Given the description of an element on the screen output the (x, y) to click on. 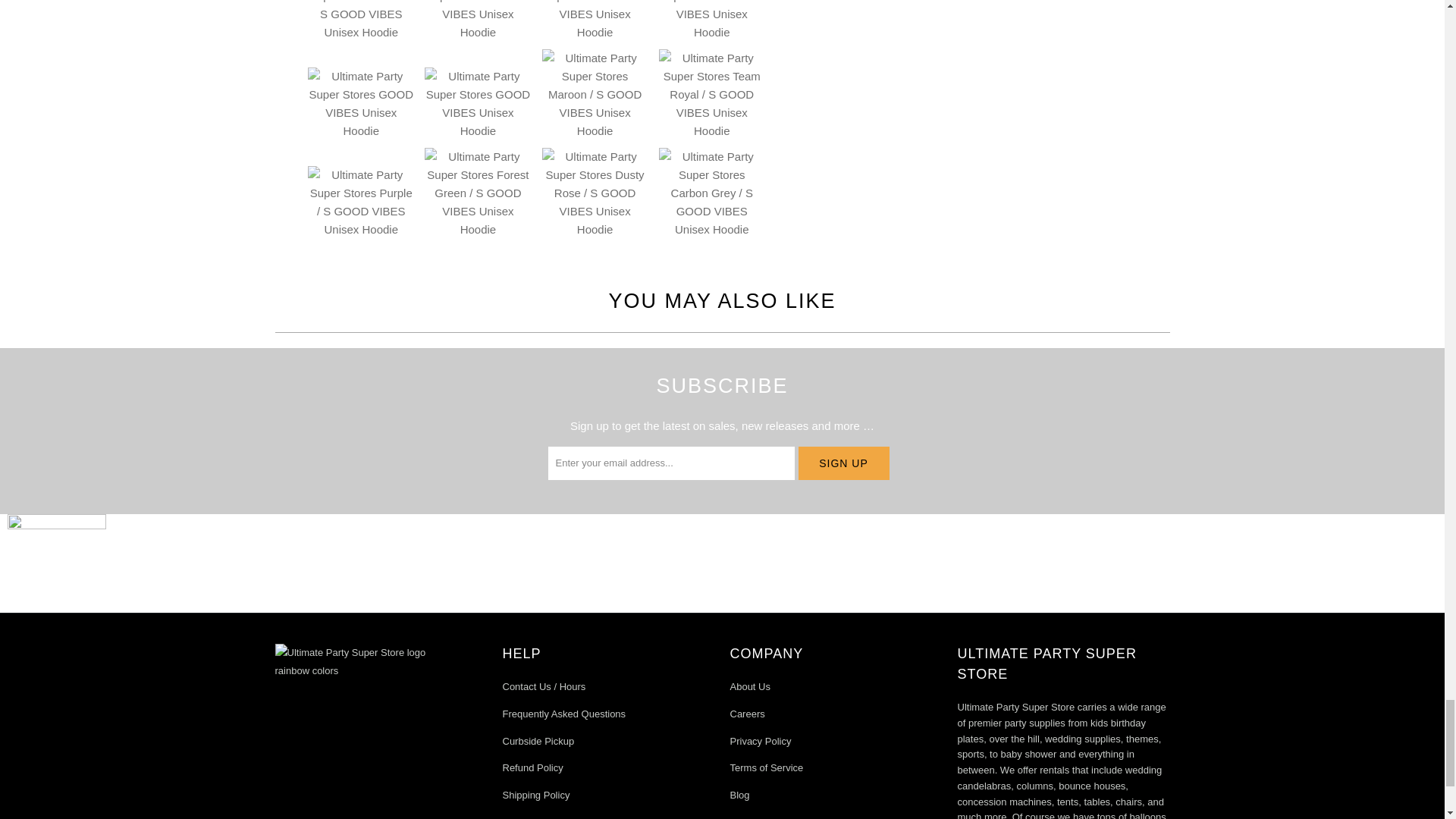
Sign Up (842, 462)
